Given the description of an element on the screen output the (x, y) to click on. 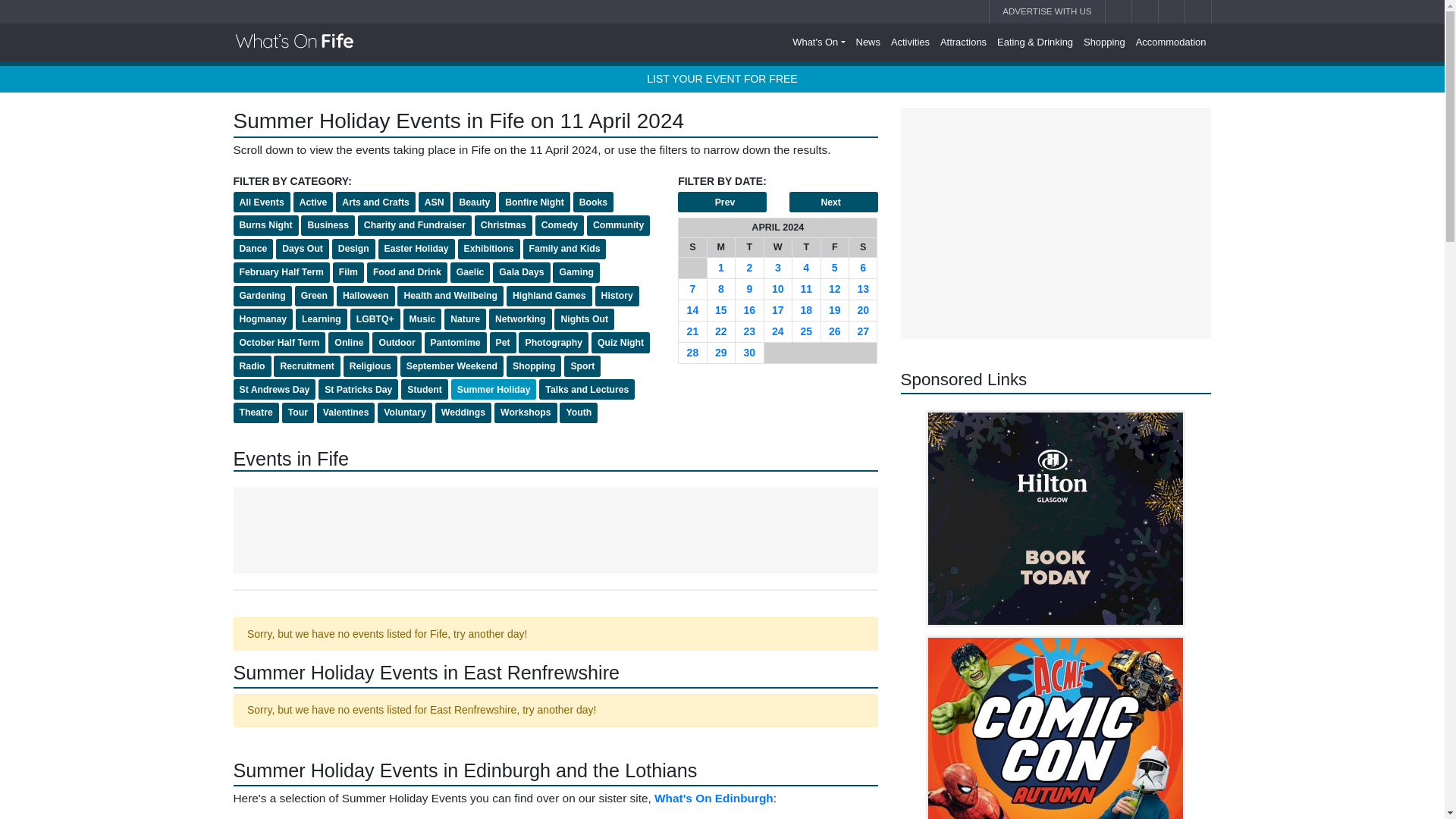
What's On (818, 41)
Bonfire Night (534, 201)
Follow What's On Fife on Twitter (1171, 5)
Accommodation (1171, 41)
All Events (260, 201)
Active (313, 201)
Activities in Fife (909, 41)
Advertise on What's On Fife (1046, 11)
News (867, 41)
Books (592, 201)
